Given the description of an element on the screen output the (x, y) to click on. 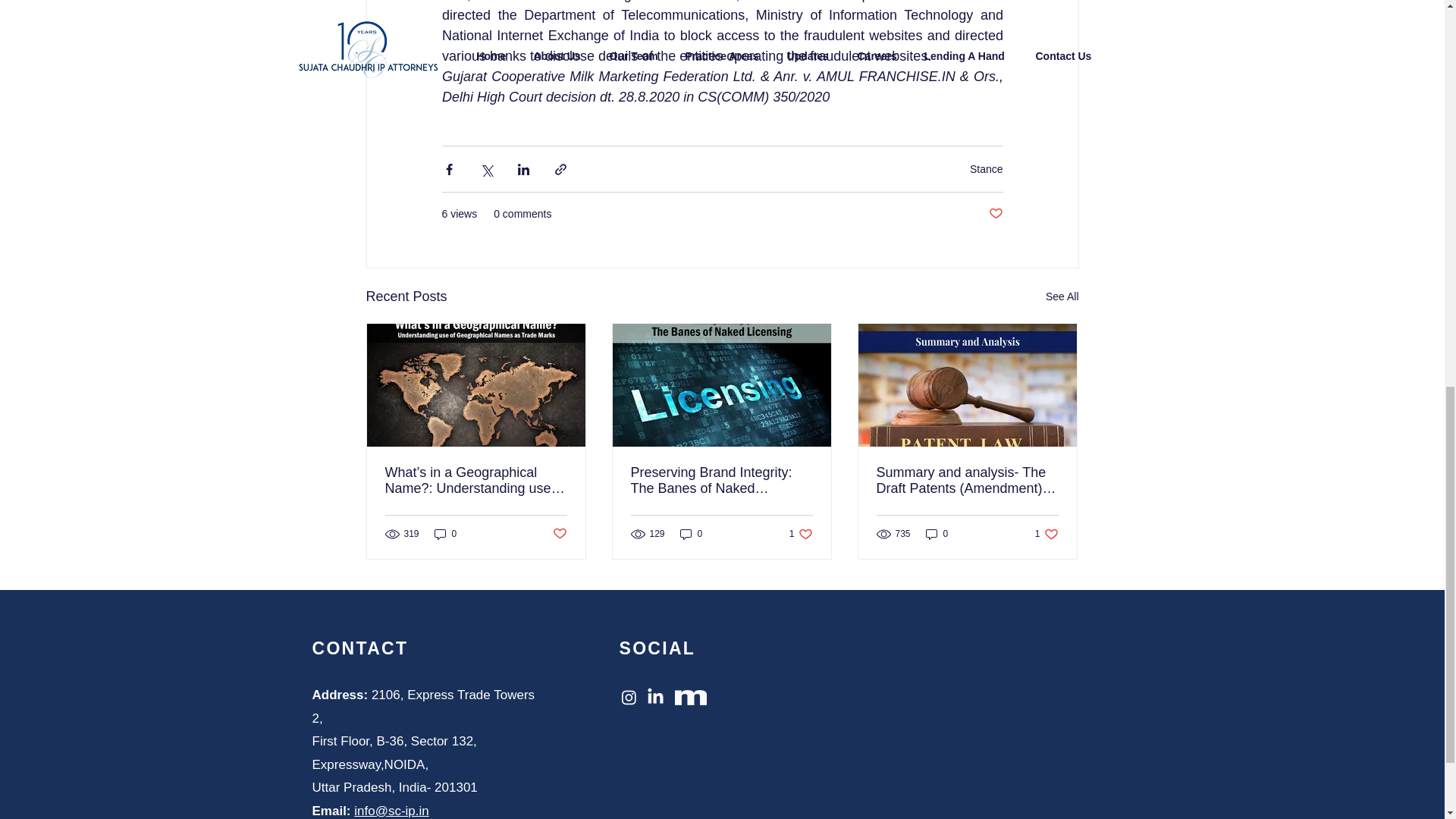
Stance (986, 168)
Google Maps (996, 728)
0 (445, 533)
Post not marked as liked (558, 534)
Post not marked as liked (995, 213)
0 (937, 533)
0 (691, 533)
See All (1061, 296)
Preserving Brand Integrity: The Banes of Naked Licensing (721, 480)
